Given the description of an element on the screen output the (x, y) to click on. 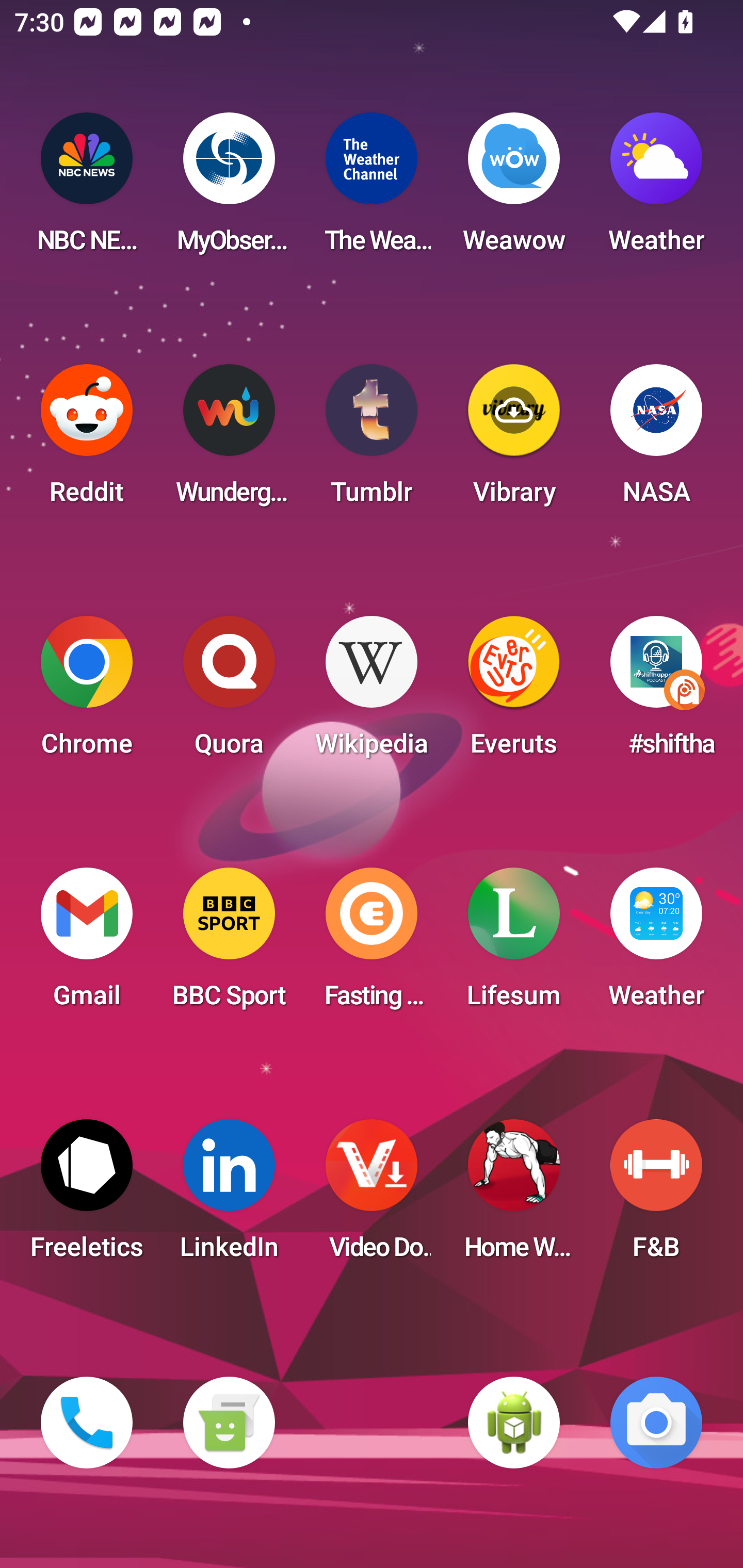
NBC NEWS (86, 188)
MyObservatory (228, 188)
The Weather Channel (371, 188)
Weawow (513, 188)
Weather (656, 188)
Reddit (86, 440)
Wunderground (228, 440)
Tumblr (371, 440)
Vibrary (513, 440)
NASA (656, 440)
Chrome (86, 692)
Quora (228, 692)
Wikipedia (371, 692)
Everuts (513, 692)
#shifthappens in the Digital Workplace Podcast (656, 692)
Gmail (86, 943)
BBC Sport (228, 943)
Fasting Coach (371, 943)
Lifesum (513, 943)
Weather (656, 943)
Freeletics (86, 1195)
LinkedIn (228, 1195)
Video Downloader & Ace Player (371, 1195)
Home Workout (513, 1195)
F&B (656, 1195)
Phone (86, 1422)
Messaging (228, 1422)
WebView Browser Tester (513, 1422)
Camera (656, 1422)
